Given the description of an element on the screen output the (x, y) to click on. 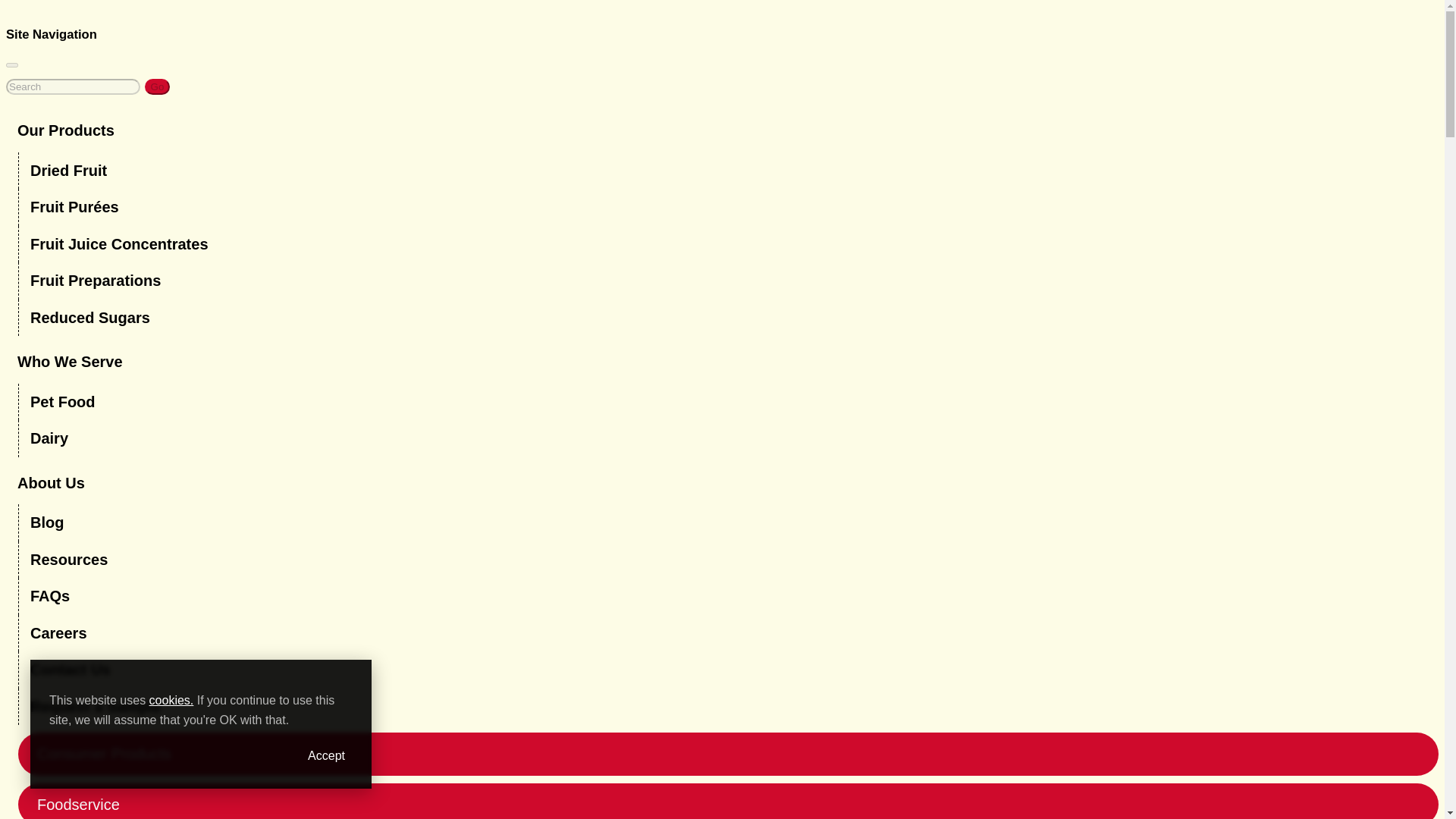
Contact Us (737, 669)
Foodservice (737, 800)
About Us (730, 483)
Dried Fruit (737, 170)
Resources (737, 559)
FAQs (737, 596)
Dairy (737, 438)
Fruit Juice Concentrates (737, 244)
Go (157, 86)
Fruit Preparations (737, 280)
Who We Serve (730, 361)
Pet Food (737, 402)
Request a Sample (737, 706)
Blog (737, 522)
Careers (737, 633)
